Given the description of an element on the screen output the (x, y) to click on. 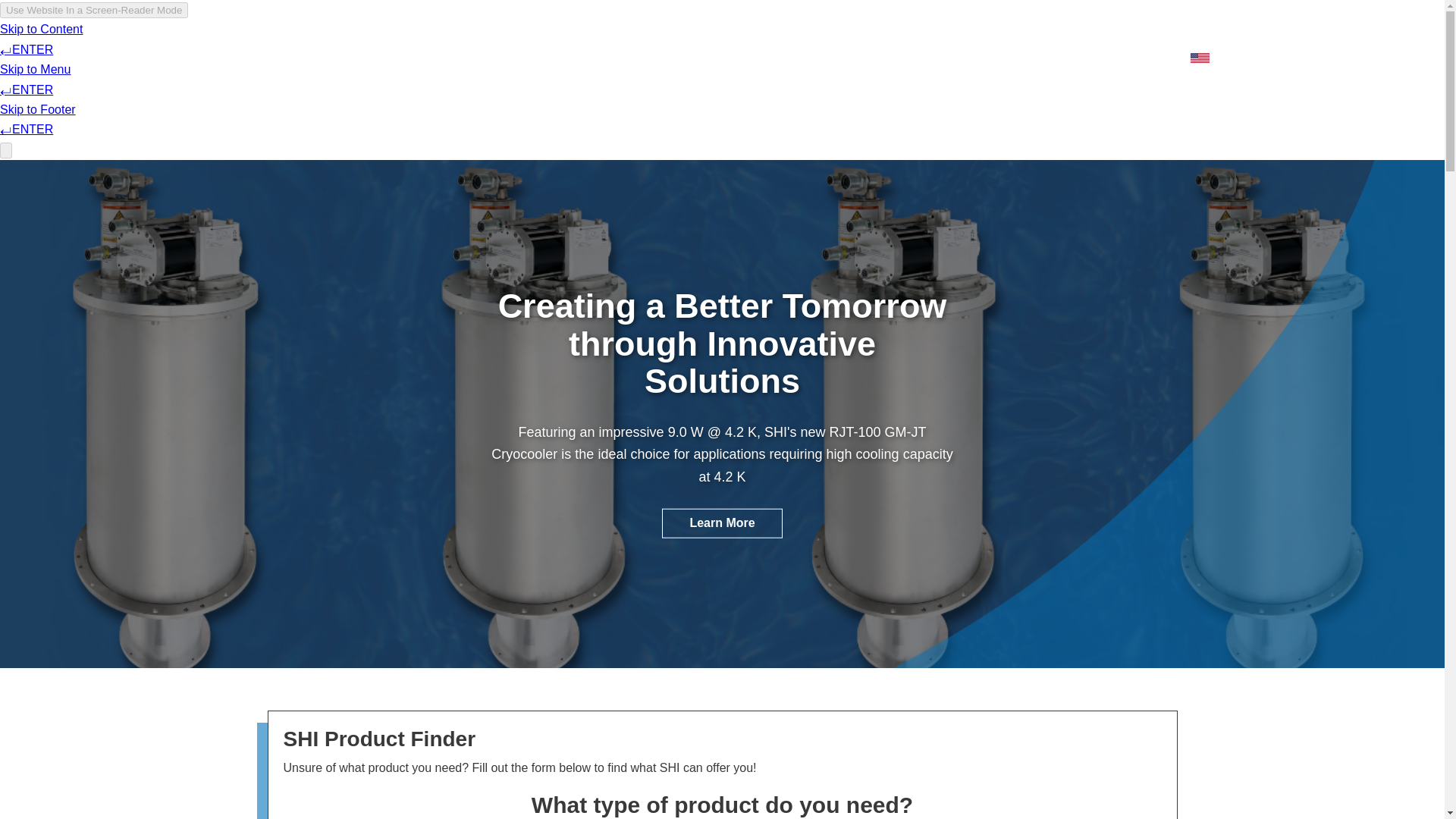
News (993, 26)
English (1224, 58)
Search (1250, 25)
Products (797, 58)
Events (1051, 26)
SHI Cryogenics Group (246, 40)
